Given the description of an element on the screen output the (x, y) to click on. 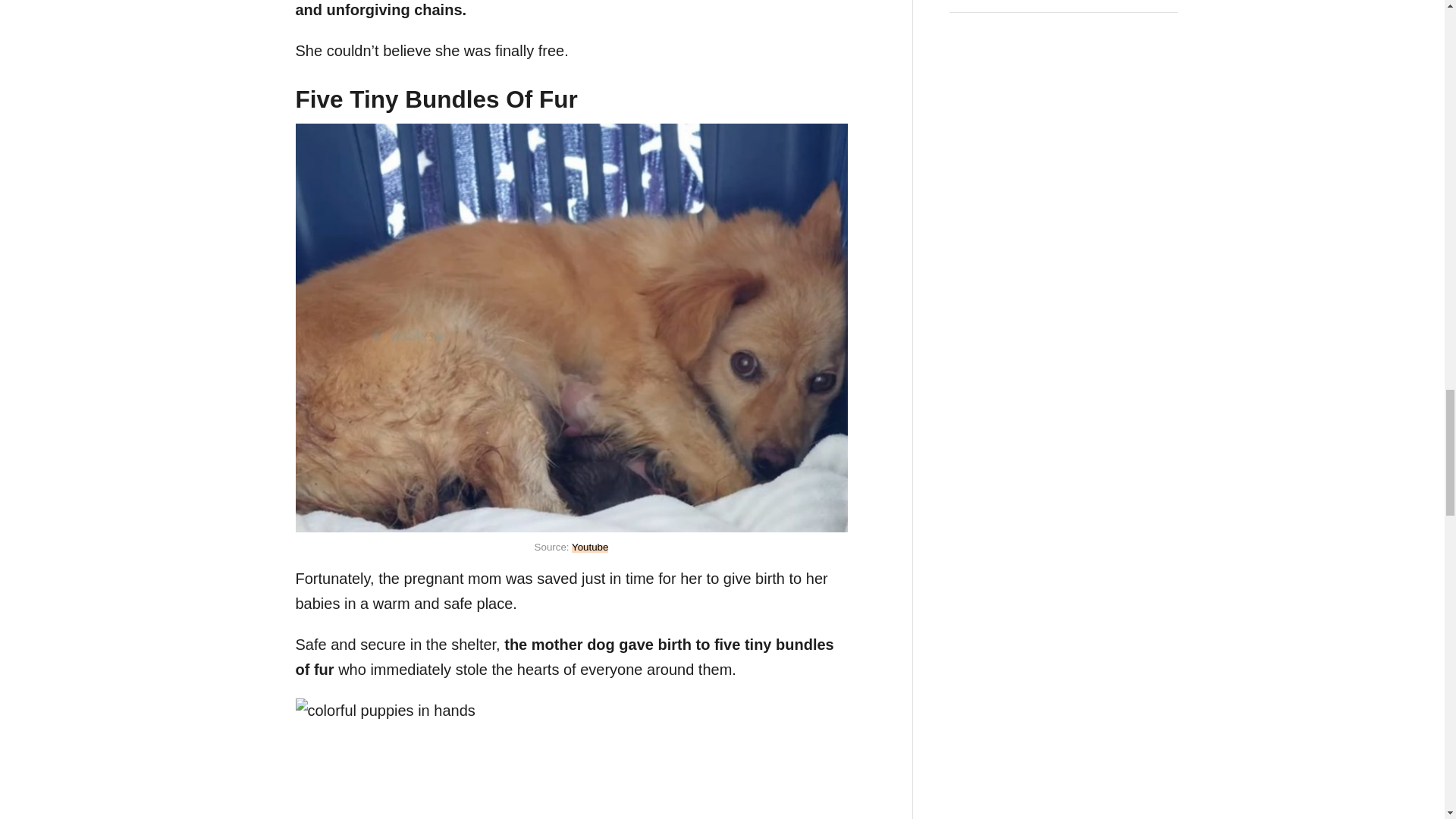
Youtube (590, 546)
